Given the description of an element on the screen output the (x, y) to click on. 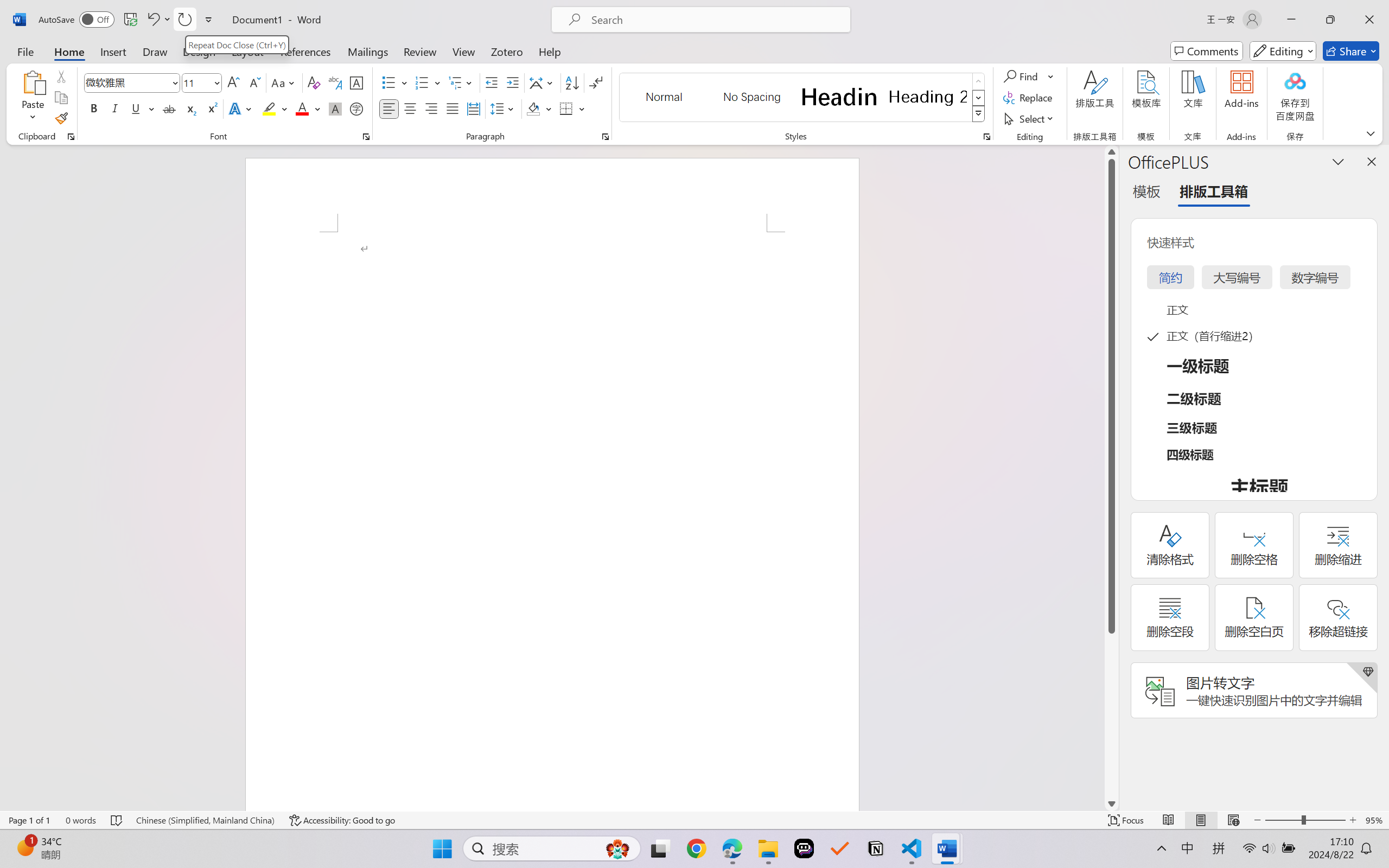
Undo <ApplyStyleToDoc>b__0 (158, 19)
